Given the description of an element on the screen output the (x, y) to click on. 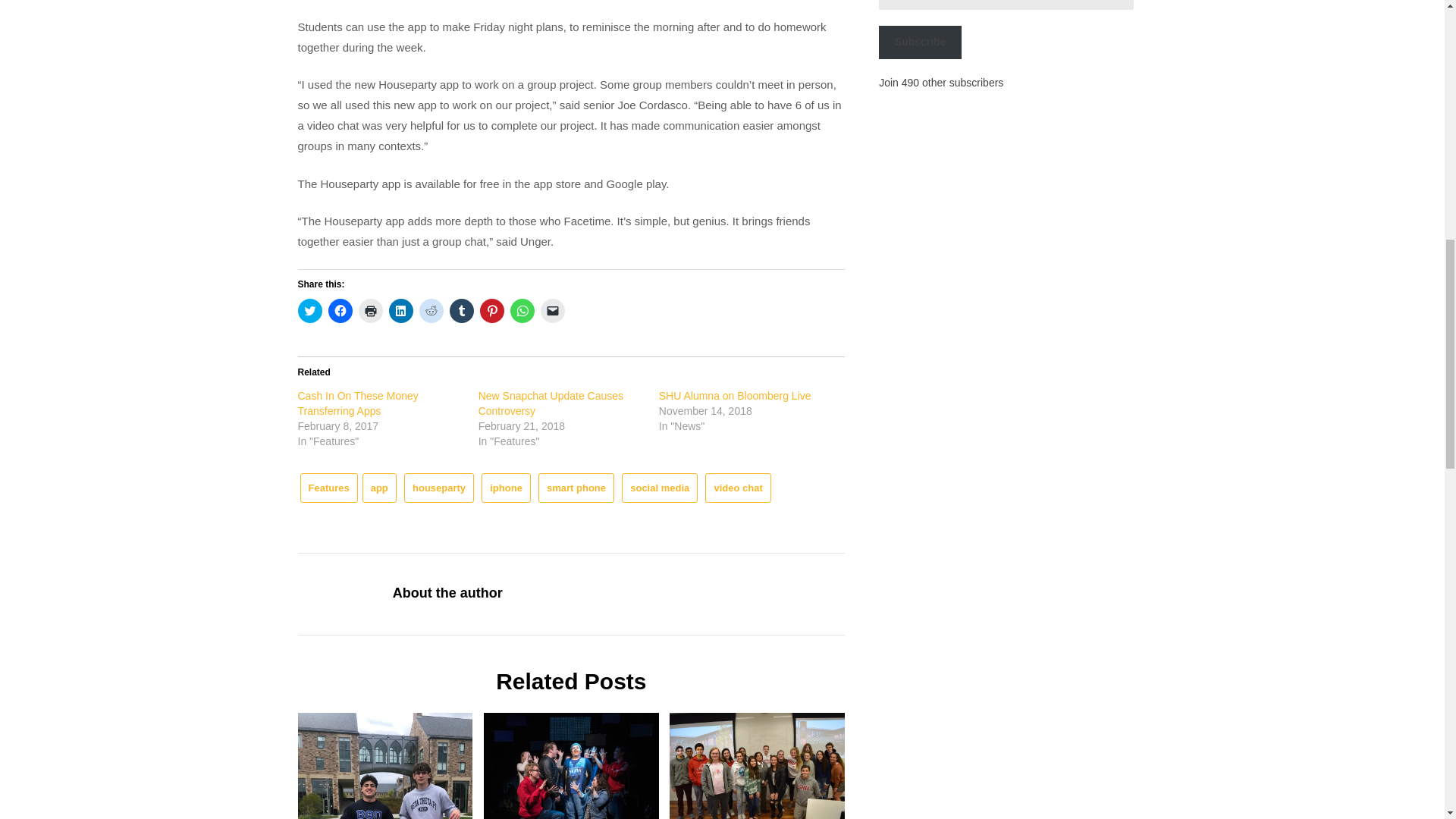
New Snapchat Update Causes Controversy (551, 402)
Click to share on Twitter (309, 310)
Click to share on Tumblr (460, 310)
iphone (506, 487)
Click to share on Pinterest (491, 310)
Click to share on LinkedIn (400, 310)
houseparty (439, 487)
Click to email a link to a friend (552, 310)
social media (659, 487)
Professor Spotlight: Joanne Rochman (756, 766)
Click to share on Facebook (339, 310)
Features (328, 487)
Cash In On These Money Transferring Apps (357, 402)
smart phone (576, 487)
New Snapchat Update Causes Controversy (551, 402)
